Given the description of an element on the screen output the (x, y) to click on. 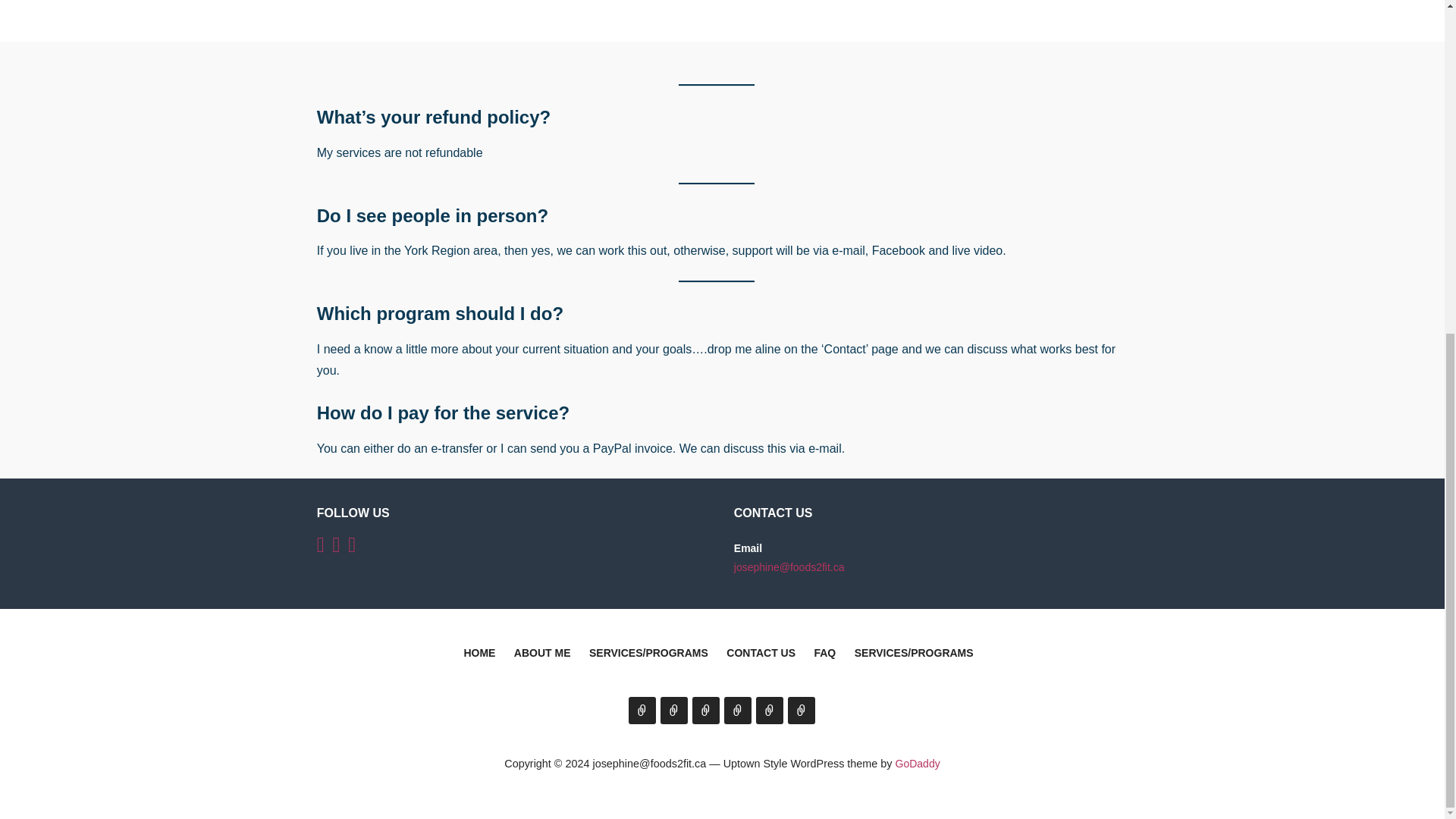
HOME (479, 655)
Contact Us (737, 709)
FAQ (824, 655)
About Me (674, 709)
FAQ (769, 709)
ABOUT ME (541, 655)
CONTACT US (760, 655)
Home (642, 709)
GoDaddy (917, 763)
